Given the description of an element on the screen output the (x, y) to click on. 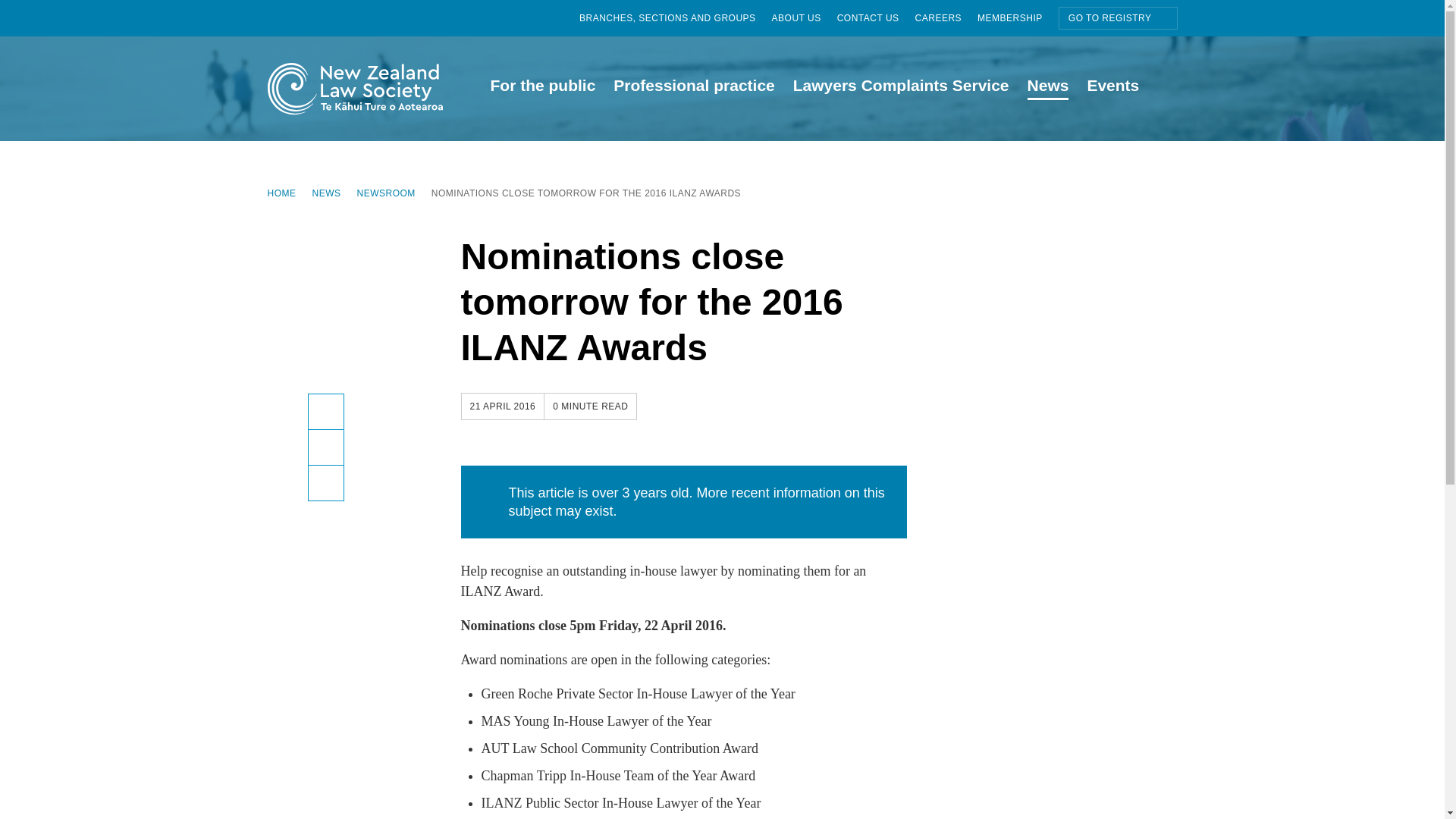
ABOUT US (804, 18)
Professional practice (693, 88)
GO TO REGISTRY (1117, 17)
MEMBERSHIP (1017, 18)
BRANCHES, SECTIONS AND GROUPS (675, 18)
For the public (542, 88)
CAREERS (946, 18)
CONTACT US (876, 18)
